Given the description of an element on the screen output the (x, y) to click on. 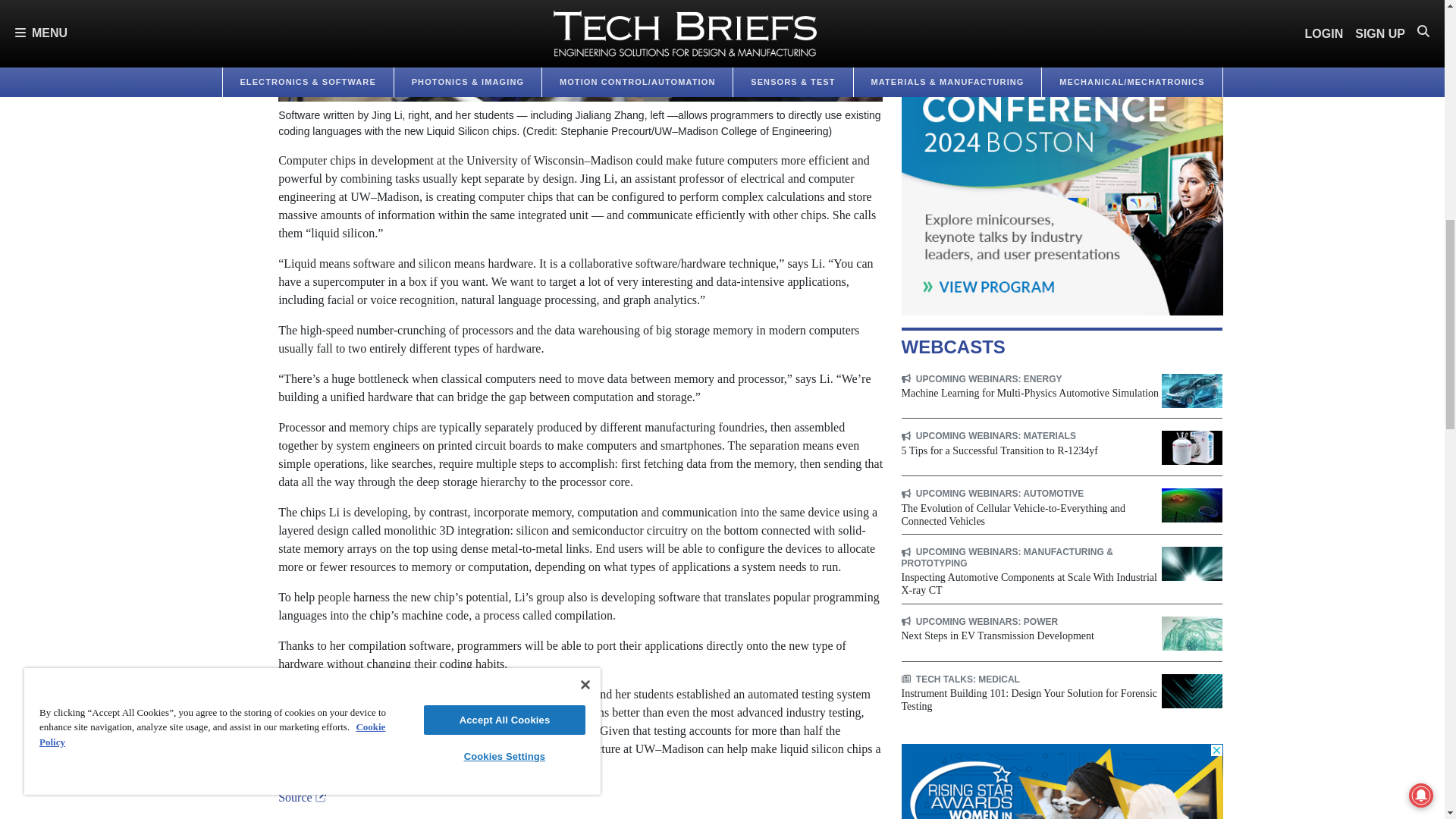
3rd party ad content (1062, 157)
3rd party ad content (1062, 781)
